Given the description of an element on the screen output the (x, y) to click on. 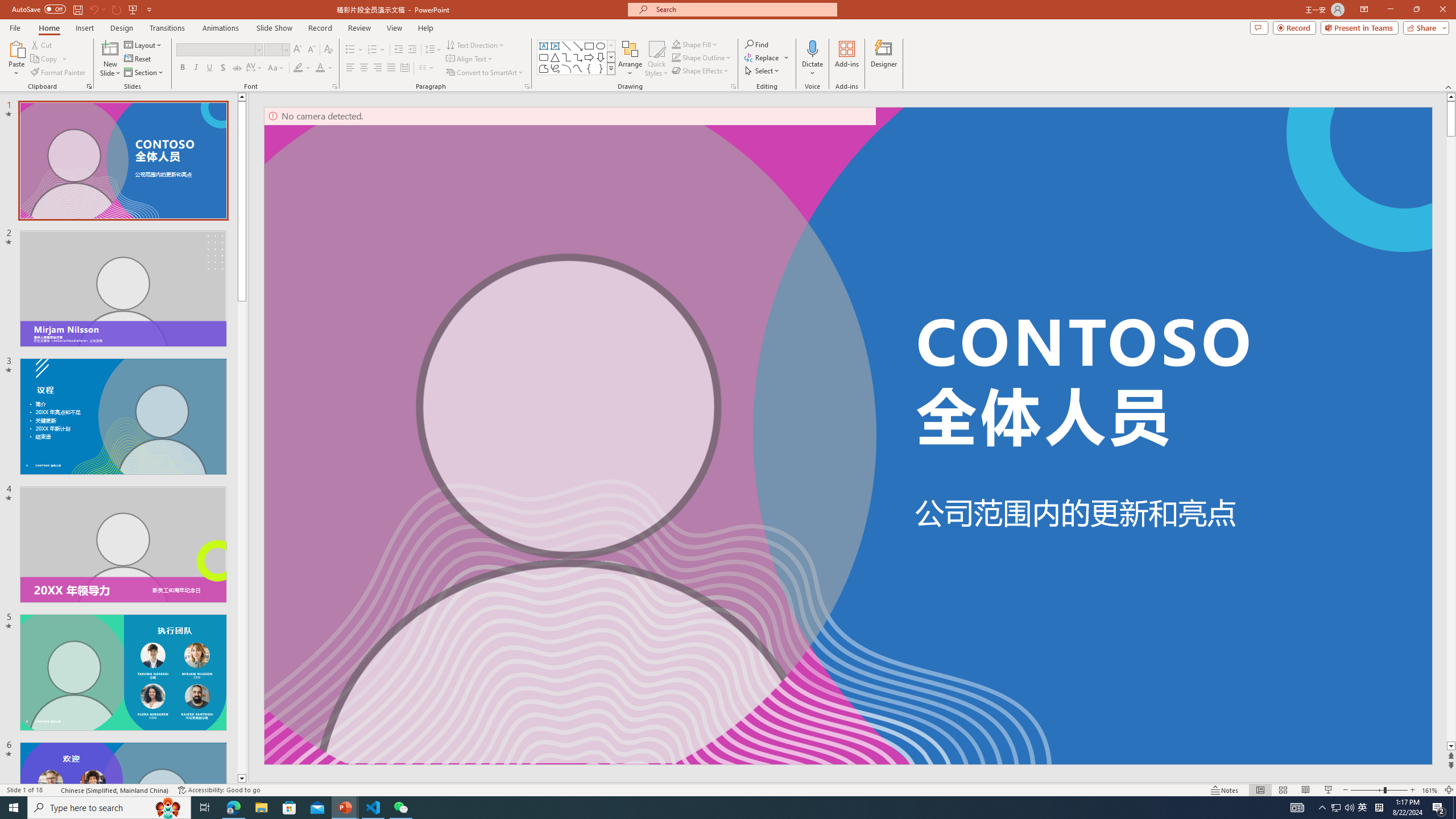
Accessibility Checker Accessibility: Good to go (218, 790)
